Given the description of an element on the screen output the (x, y) to click on. 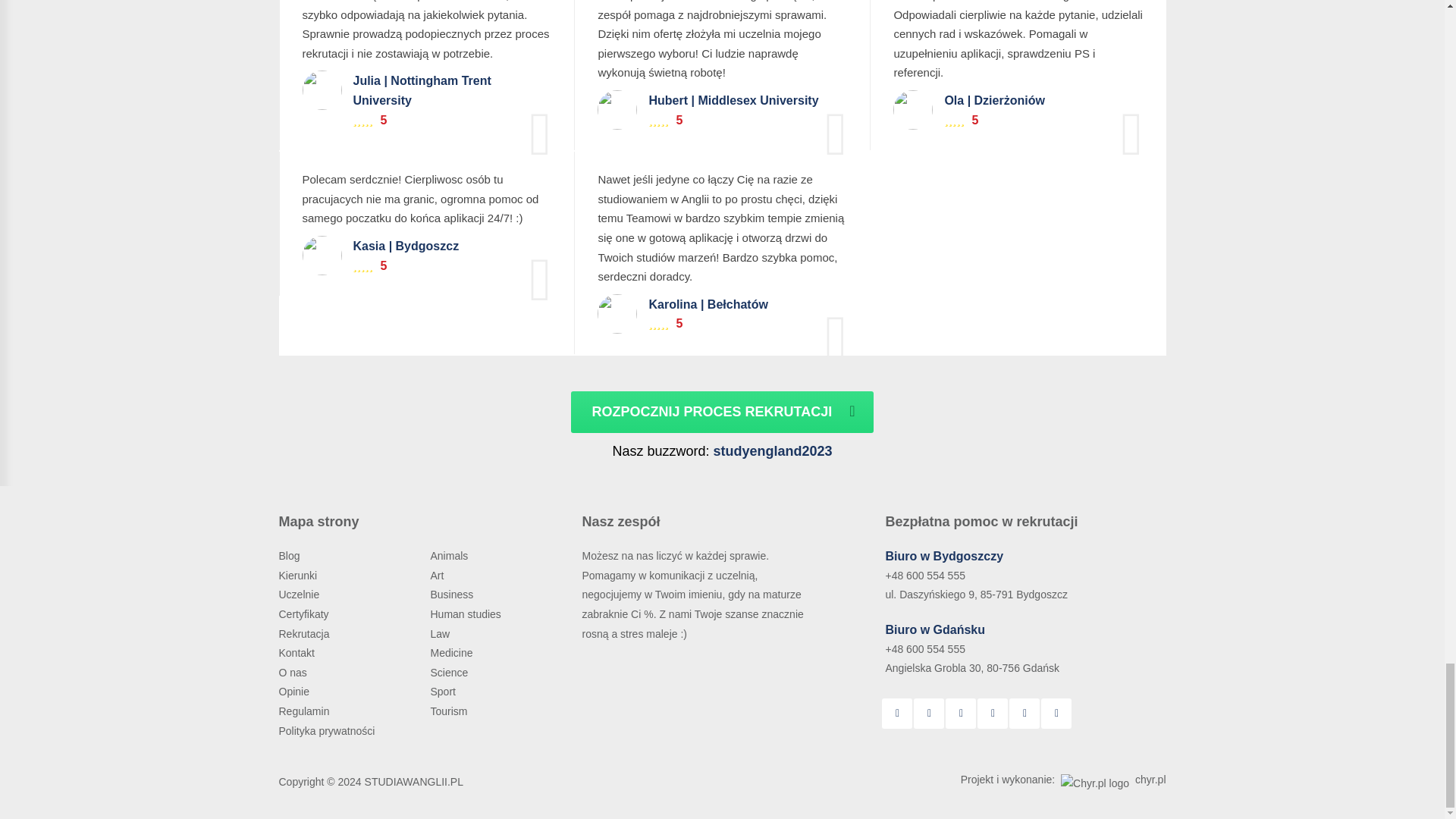
Animals (449, 555)
Regulamin (306, 711)
Human studies (466, 613)
Kontakt (298, 653)
Business (452, 594)
O nas (294, 672)
ROZPOCZNIJ PROCES REKRUTACJI (721, 412)
Blog (290, 555)
Art (437, 575)
Kierunki (299, 575)
Rekrutacja (306, 633)
Opinie (296, 691)
Certyfikaty (305, 613)
Uczelnie (300, 594)
